Given the description of an element on the screen output the (x, y) to click on. 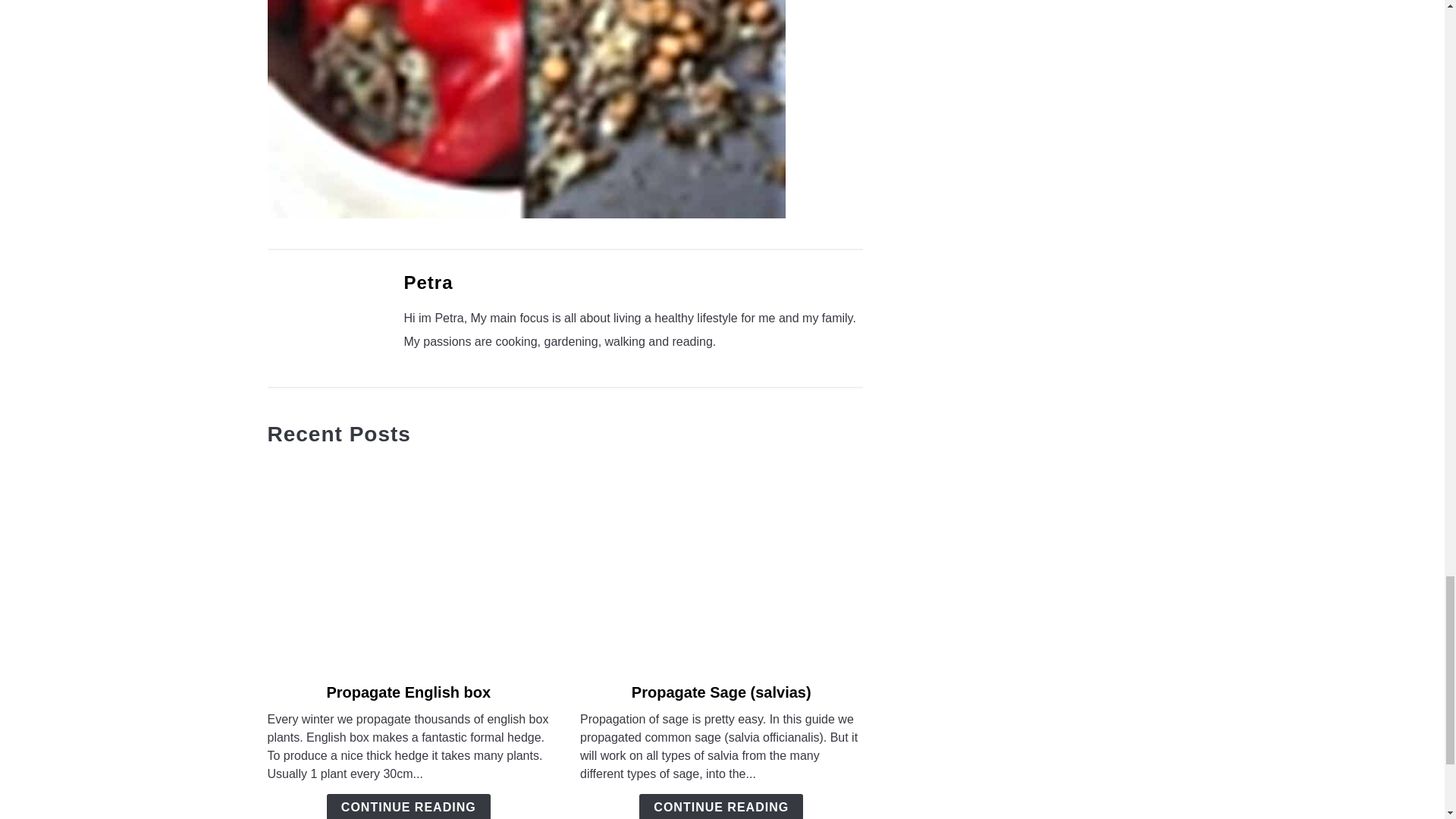
link to Propagate English box (408, 564)
Petra (427, 281)
CONTINUE READING (721, 806)
Propagate English box (408, 692)
CONTINUE READING (408, 806)
